Given the description of an element on the screen output the (x, y) to click on. 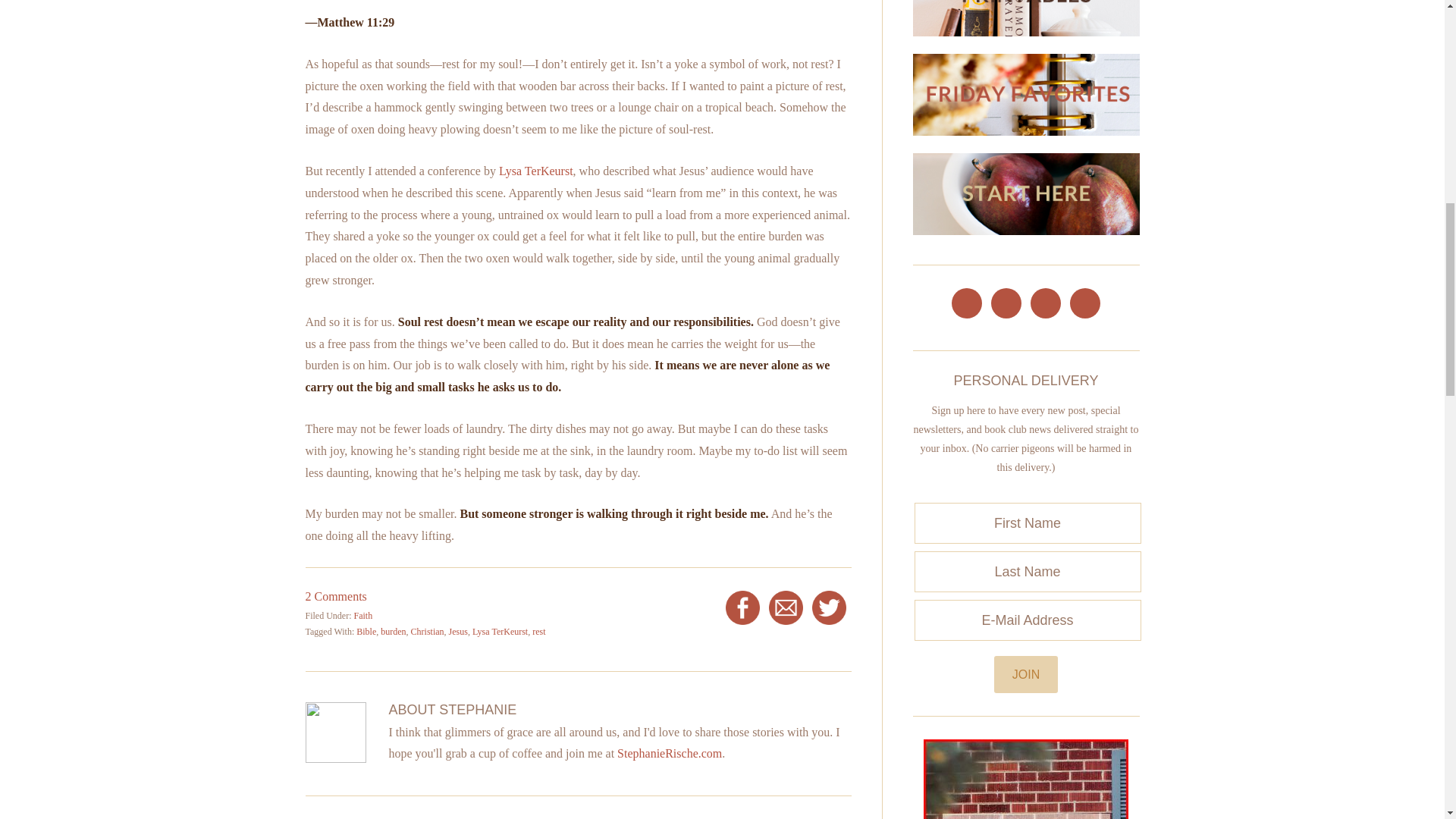
2 Comments (335, 595)
email (786, 607)
Lysa TerKeurst (499, 631)
burden (393, 631)
Jesus (457, 631)
Christian (427, 631)
Lysa TerKeurst (536, 170)
Join (1026, 674)
StephanieRische.com (669, 753)
rest (538, 631)
Faith (362, 615)
Bible (365, 631)
Join (1026, 674)
twitter (829, 607)
facebook (742, 607)
